Given the description of an element on the screen output the (x, y) to click on. 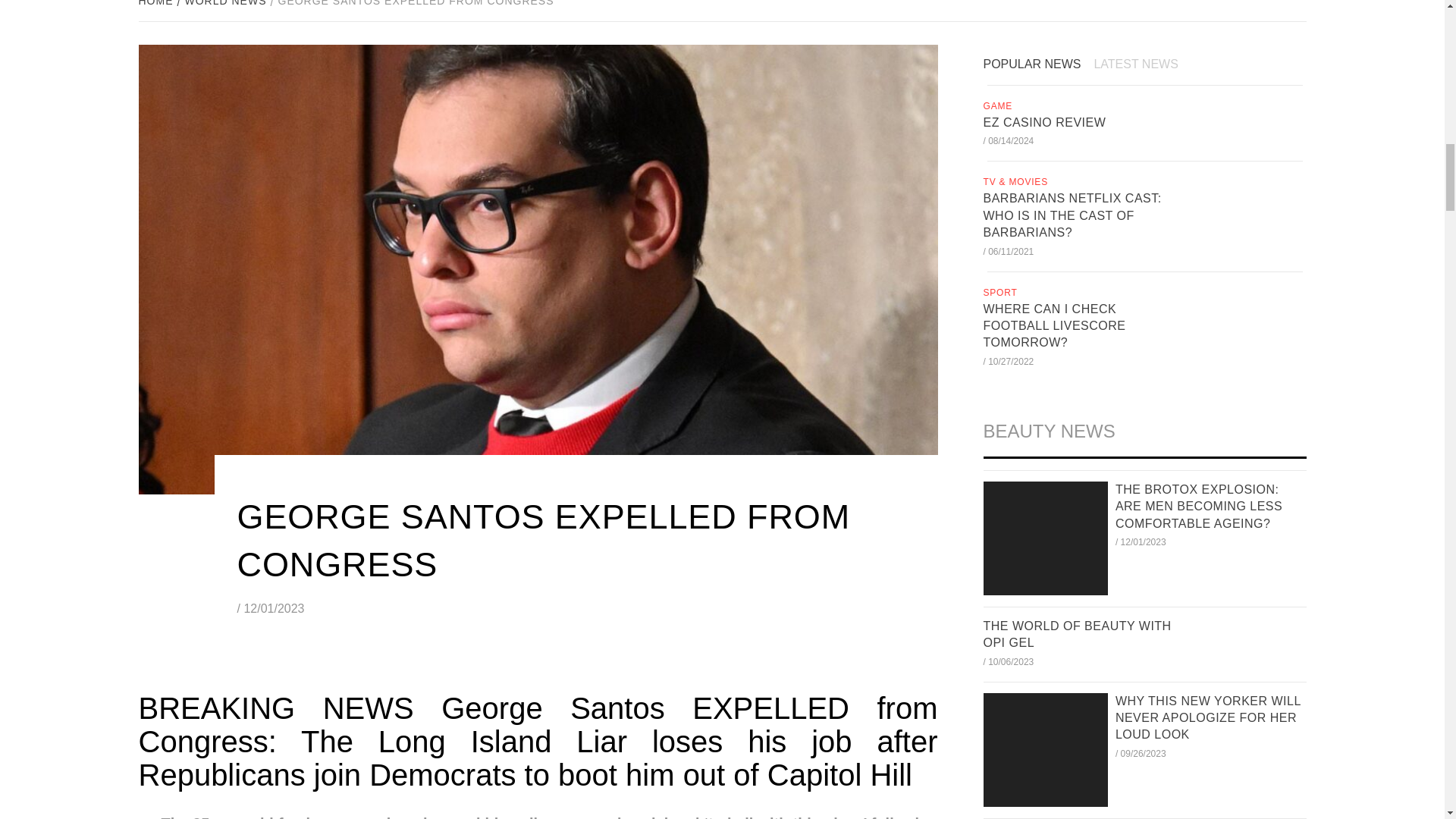
WORLD NEWS (223, 3)
WHERE CAN I CHECK FOOTBALL LIVESCORE TOMORROW? (1053, 325)
POPULAR NEWS (1037, 65)
BARBARIANS NETFLIX CAST: WHO IS IN THE CAST OF BARBARIANS? (1071, 215)
THE WORLD OF BEAUTY WITH OPI GEL (1076, 634)
EZ CASINO REVIEW (1043, 122)
LATEST NEWS (1141, 65)
SPORT (1001, 292)
WHY THIS NEW YORKER WILL NEVER APOLOGIZE FOR HER LOUD LOOK (1207, 718)
